Given the description of an element on the screen output the (x, y) to click on. 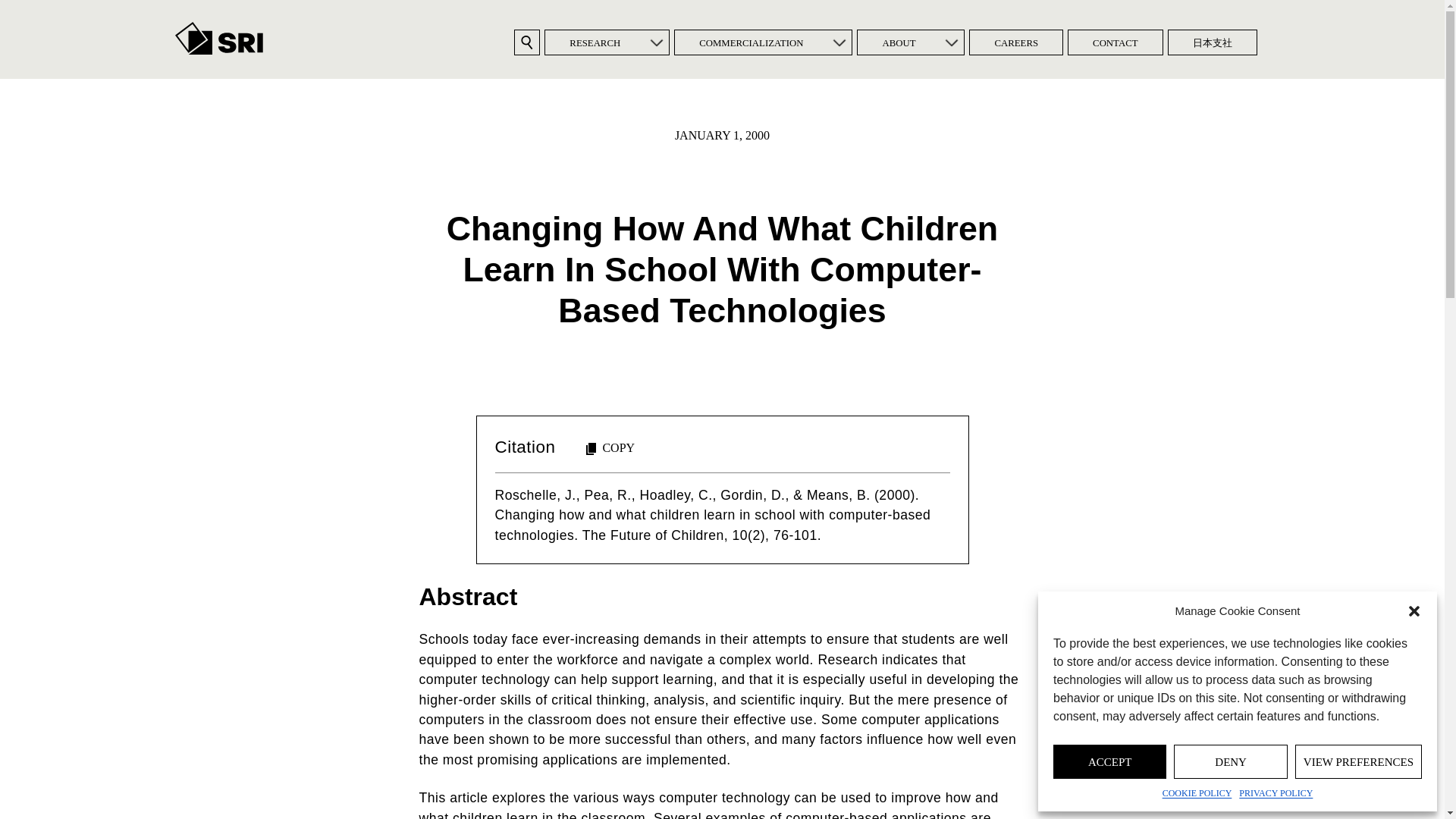
CAREERS (1015, 42)
DENY (1230, 761)
PRIVACY POLICY (1276, 793)
COMMERCIALIZATION (751, 42)
COOKIE POLICY (1196, 793)
VIEW PREFERENCES (1358, 761)
RESEARCH (594, 42)
ACCEPT (1109, 761)
Subscribe (622, 460)
CONTACT (1114, 42)
ABOUT (898, 42)
